Given the description of an element on the screen output the (x, y) to click on. 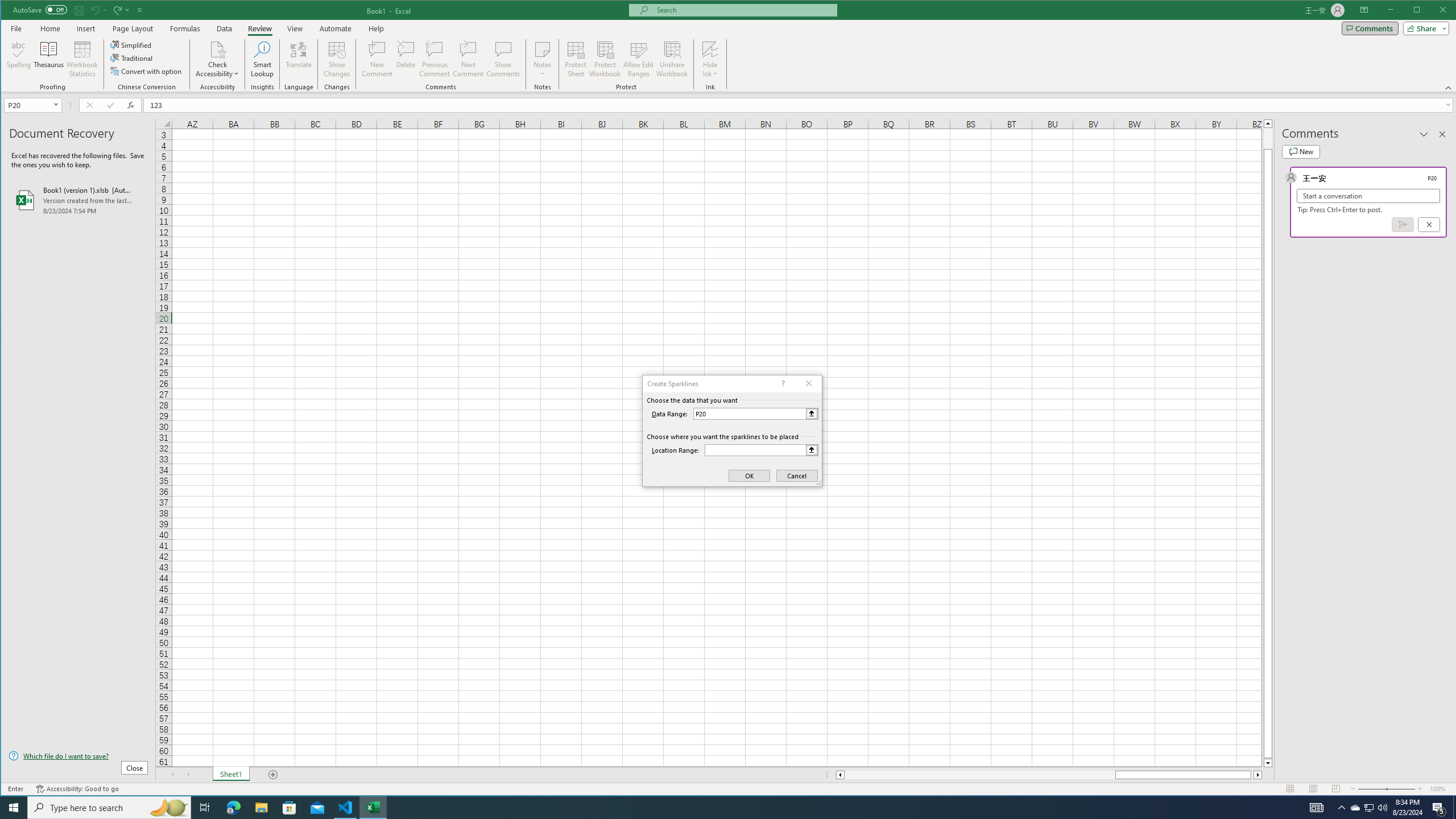
Accessibility Checker Accessibility: Good to go (77, 788)
Minimize (1419, 11)
Zoom In (1420, 788)
Save (79, 9)
Start a conversation (1368, 195)
Class: NetUIScrollBar (1048, 774)
Delete (405, 59)
Line down (1267, 763)
File Tab (16, 27)
Next Comment (467, 59)
Maximize (1432, 11)
Redo (120, 9)
Hide Ink (710, 59)
Line up (1267, 122)
Column right (1258, 774)
